Given the description of an element on the screen output the (x, y) to click on. 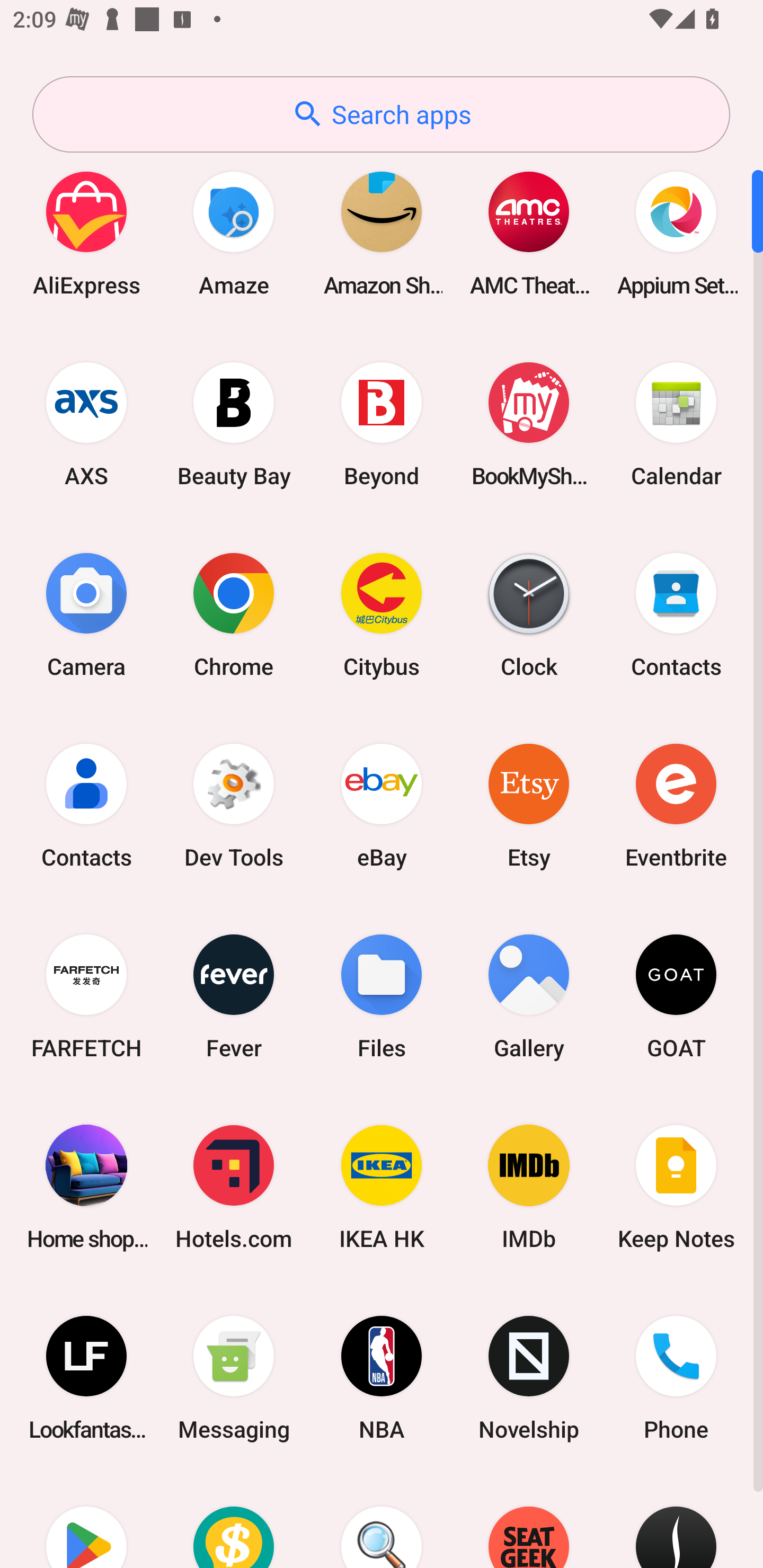
  Search apps (381, 114)
AliExpress (86, 233)
Amaze (233, 233)
Amazon Shopping (381, 233)
AMC Theatres (528, 233)
Appium Settings (676, 233)
AXS (86, 424)
Beauty Bay (233, 424)
Beyond (381, 424)
BookMyShow (528, 424)
Calendar (676, 424)
Camera (86, 614)
Chrome (233, 614)
Citybus (381, 614)
Clock (528, 614)
Contacts (676, 614)
Contacts (86, 805)
Dev Tools (233, 805)
eBay (381, 805)
Etsy (528, 805)
Eventbrite (676, 805)
FARFETCH (86, 996)
Fever (233, 996)
Files (381, 996)
Gallery (528, 996)
GOAT (676, 996)
Home shopping (86, 1186)
Hotels.com (233, 1186)
IKEA HK (381, 1186)
IMDb (528, 1186)
Keep Notes (676, 1186)
Lookfantastic (86, 1377)
Messaging (233, 1377)
NBA (381, 1377)
Novelship (528, 1377)
Phone (676, 1377)
Play Store (86, 1520)
Price (233, 1520)
Search (381, 1520)
SeatGeek (528, 1520)
Sephora (676, 1520)
